Given the description of an element on the screen output the (x, y) to click on. 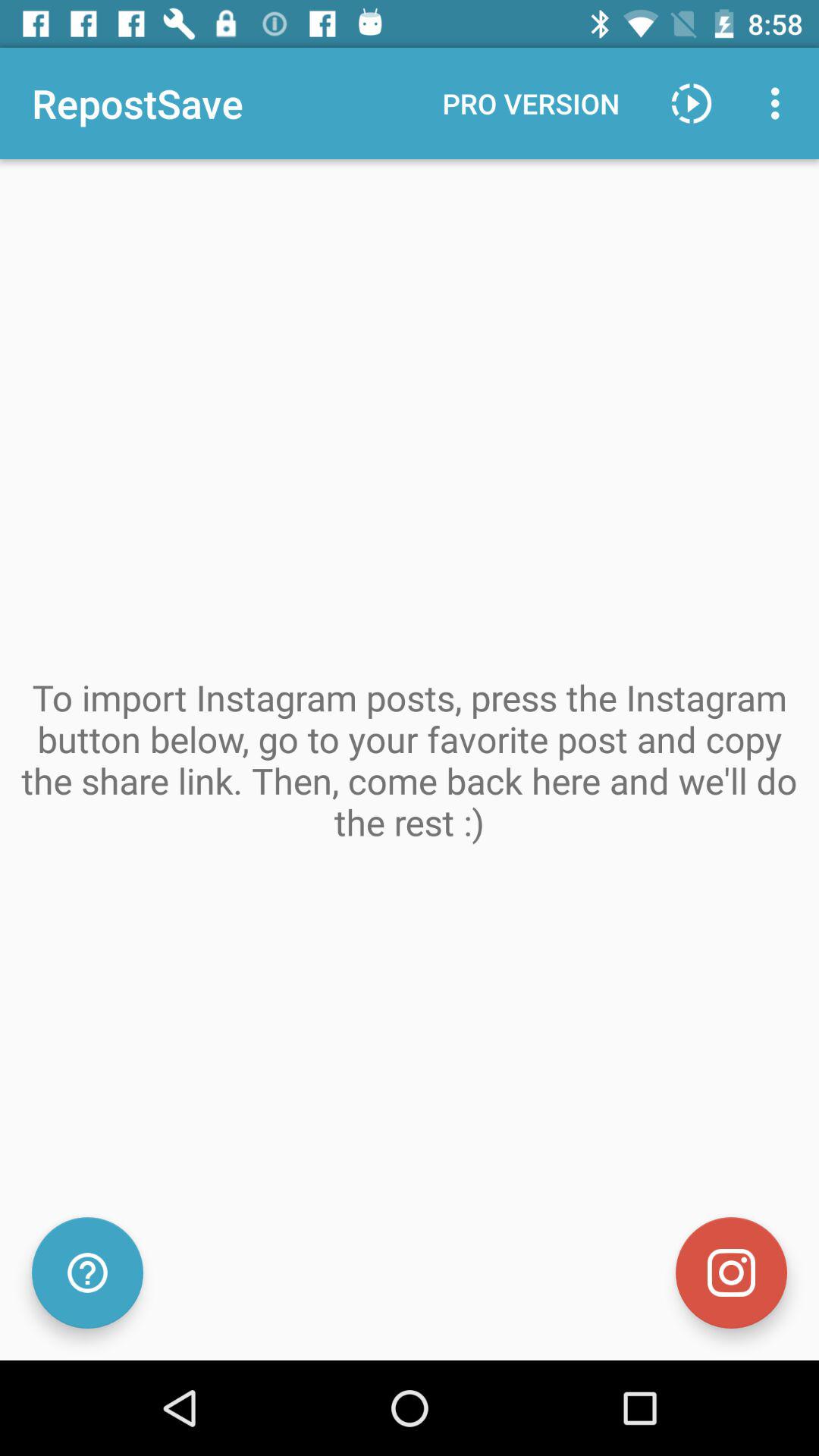
turn on the item at the top (530, 103)
